Given the description of an element on the screen output the (x, y) to click on. 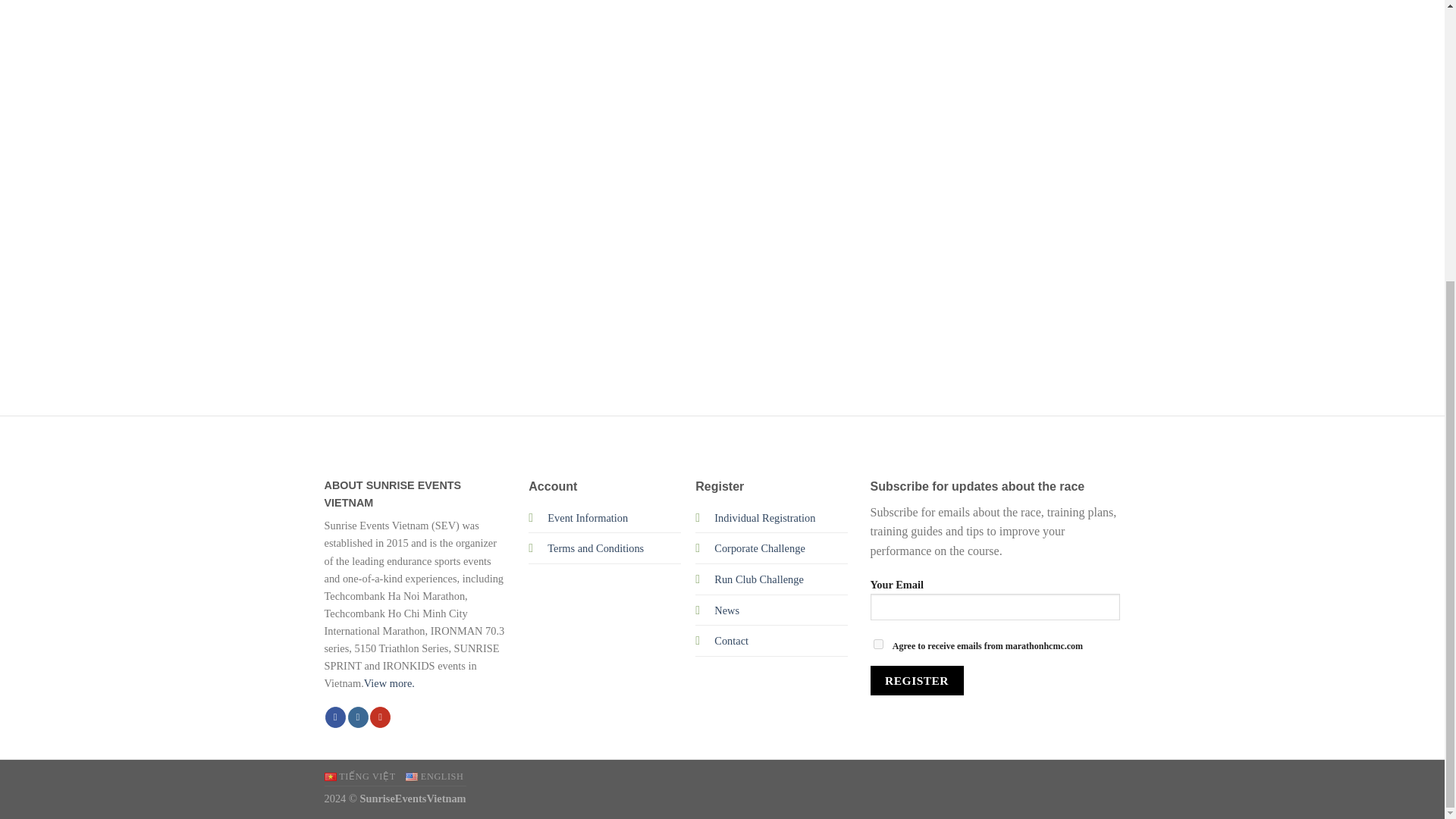
Terms and Conditions (595, 548)
Follow on Facebook (335, 717)
1 (878, 644)
Register (916, 680)
Event Information (587, 517)
Follow on Instagram (357, 717)
Follow on YouTube (379, 717)
View more. (389, 683)
Individual Registration (764, 517)
